Given the description of an element on the screen output the (x, y) to click on. 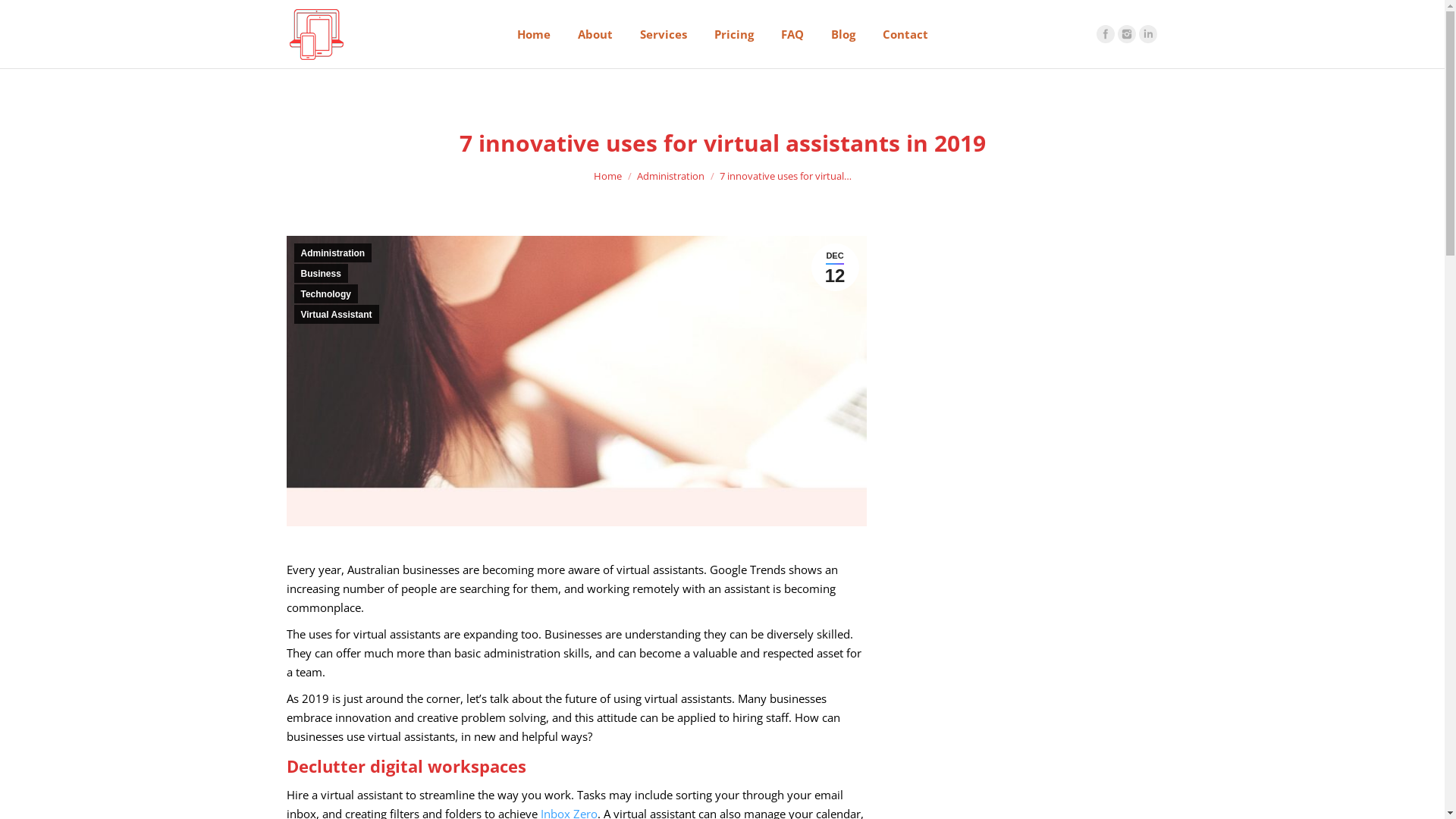
Post Comment Element type: text (45, 14)
Virtual Assistant Element type: text (336, 313)
Technology Element type: text (325, 293)
DEC
12 Element type: text (835, 267)
Contact Element type: text (905, 33)
Facebook Element type: hover (1105, 34)
Business Element type: text (321, 272)
Administration Element type: text (333, 252)
Services Element type: text (663, 33)
FAQ Element type: text (792, 33)
Home Element type: text (607, 175)
Linkedin Element type: hover (1148, 34)
Home Element type: text (533, 33)
About Element type: text (594, 33)
Administration Element type: text (670, 175)
Instagram Element type: hover (1126, 34)
Pricing Element type: text (733, 33)
Blog Element type: text (843, 33)
7 innovative uses for virtual assistants in 2019 Element type: hover (576, 380)
